Given the description of an element on the screen output the (x, y) to click on. 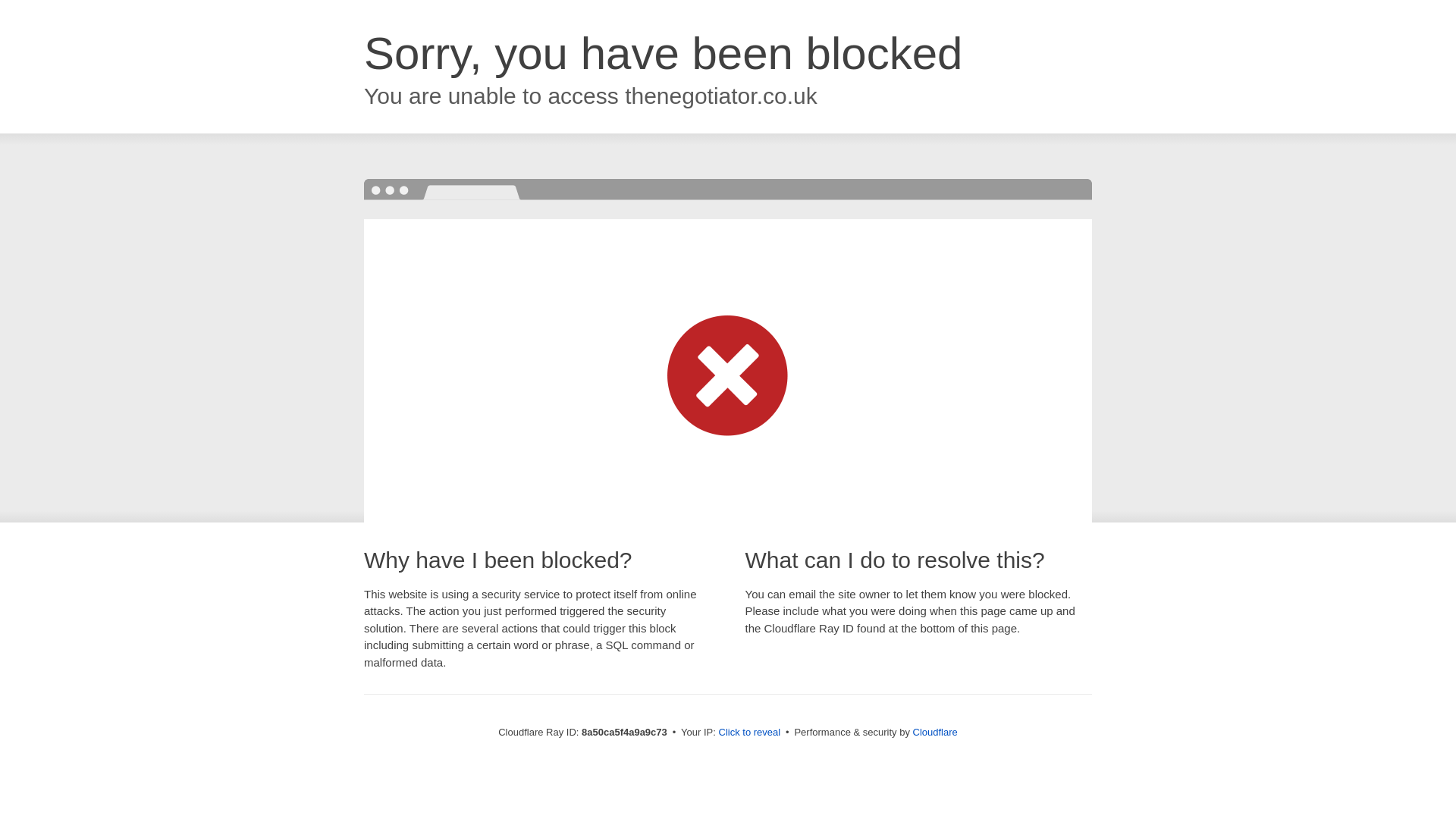
Click to reveal (749, 732)
Cloudflare (935, 731)
